Given the description of an element on the screen output the (x, y) to click on. 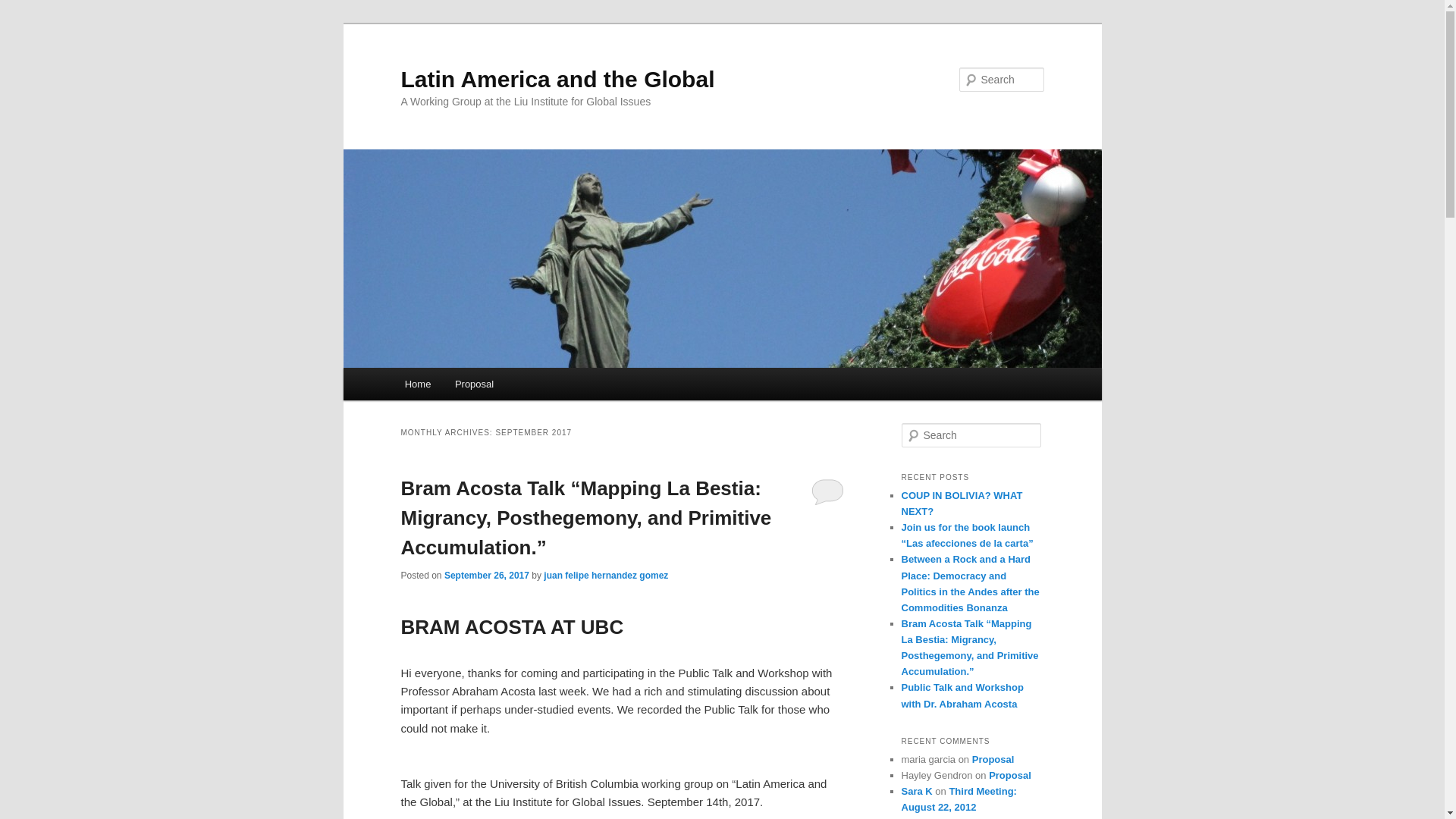
Public Talk and Workshop with Dr. Abraham Acosta (962, 695)
Proposal (473, 383)
Third Meeting: August 22, 2012 (958, 799)
Search (24, 8)
September 26, 2017 (486, 575)
Proposal (993, 758)
10:16 am (486, 575)
Proposal (1009, 775)
COUP IN BOLIVIA? WHAT NEXT? (961, 502)
Sara K (916, 790)
Home (417, 383)
View all posts by juan felipe hernandez gomez (605, 575)
BRAM ACOSTA AT UBC (511, 626)
